Given the description of an element on the screen output the (x, y) to click on. 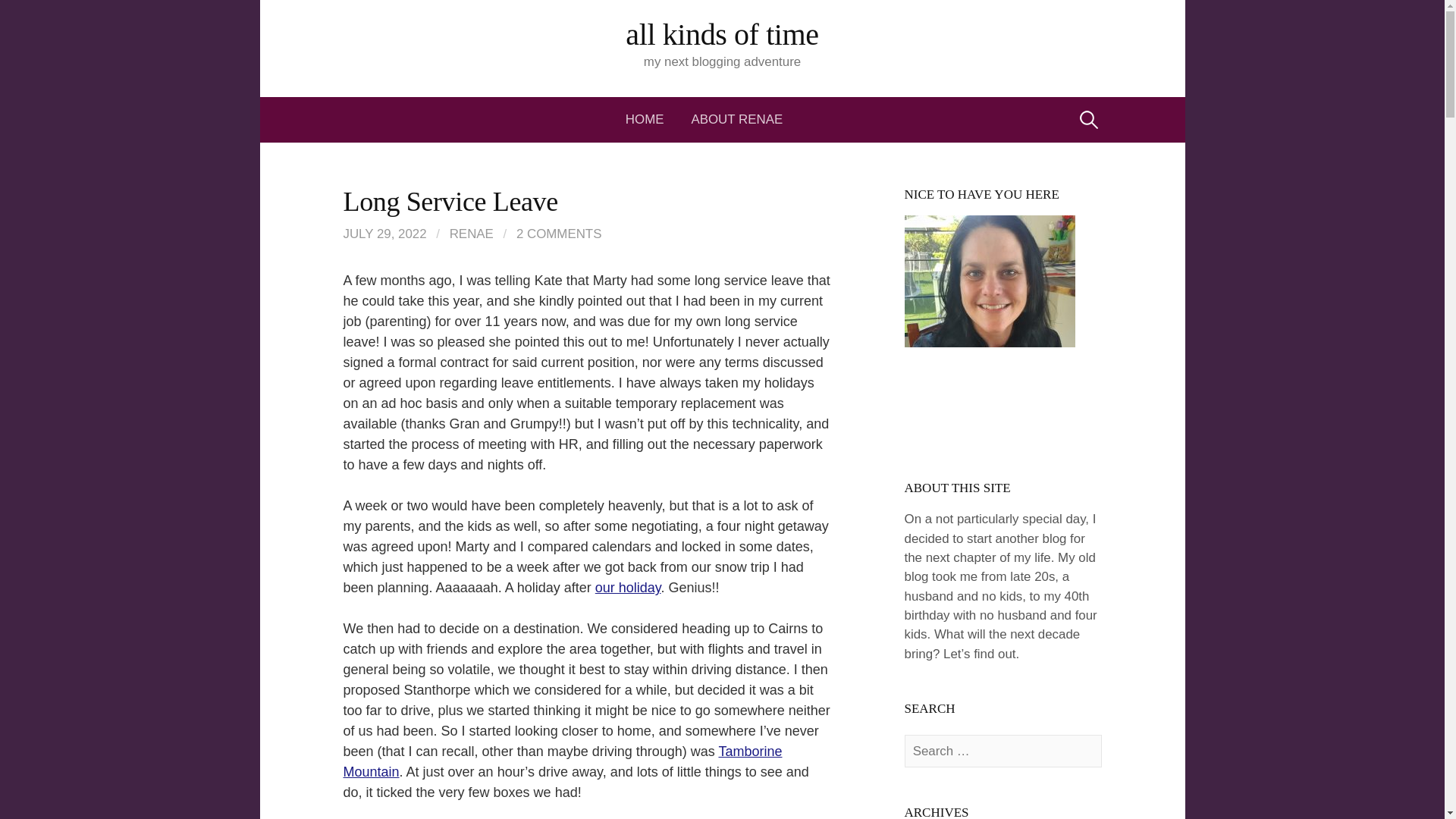
all kinds of time (722, 34)
Search (16, 16)
RENAE (471, 233)
JULY 29, 2022 (384, 233)
HOME (652, 119)
2 COMMENTS (559, 233)
Search (40, 16)
ABOUT RENAE (736, 119)
our holiday (628, 587)
Tamborine Mountain (561, 761)
